Given the description of an element on the screen output the (x, y) to click on. 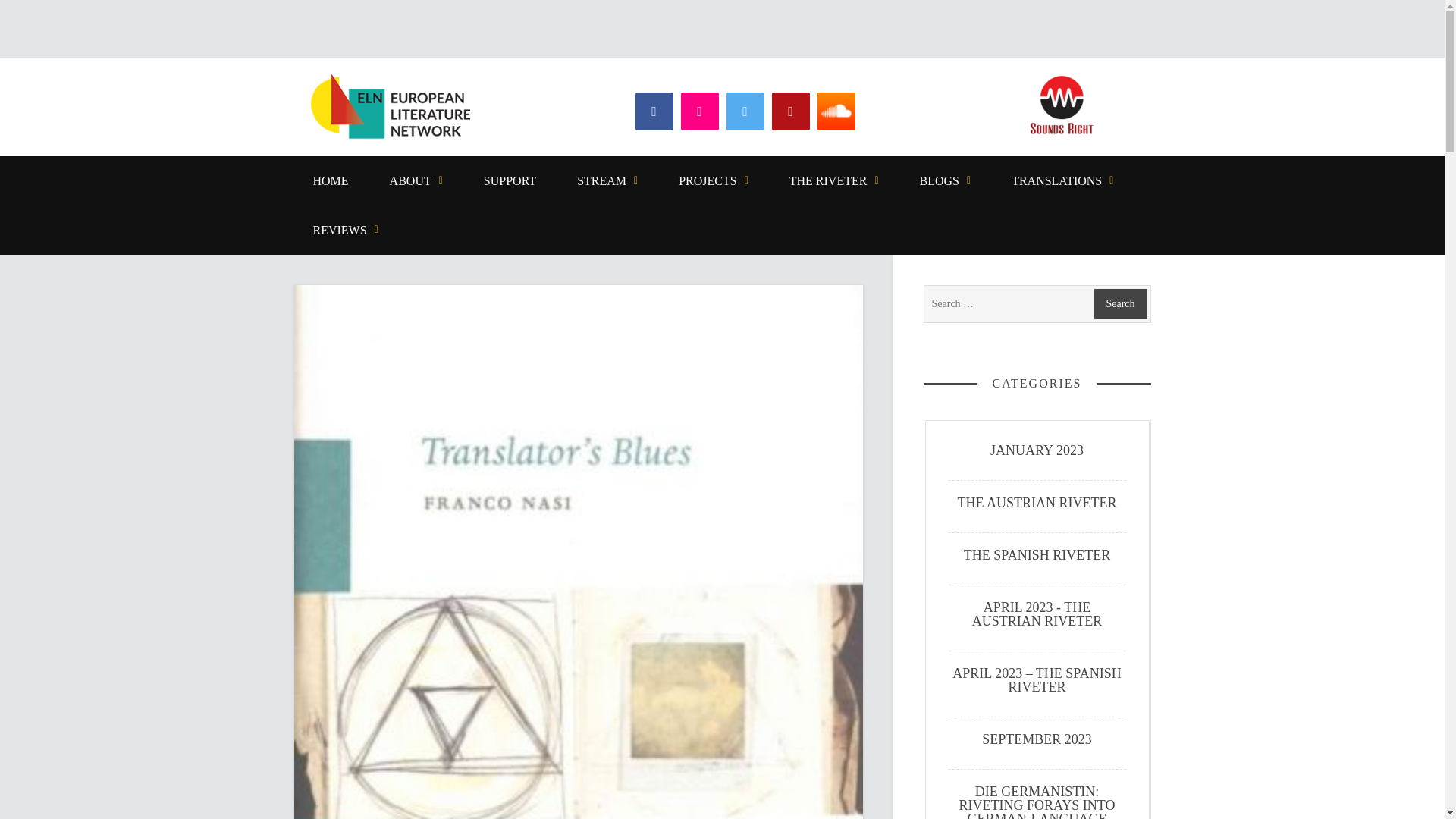
Search (1120, 304)
STREAM (606, 180)
HOME (331, 180)
SUPPORT (509, 180)
Search (1120, 304)
ABOUT (416, 180)
